Given the description of an element on the screen output the (x, y) to click on. 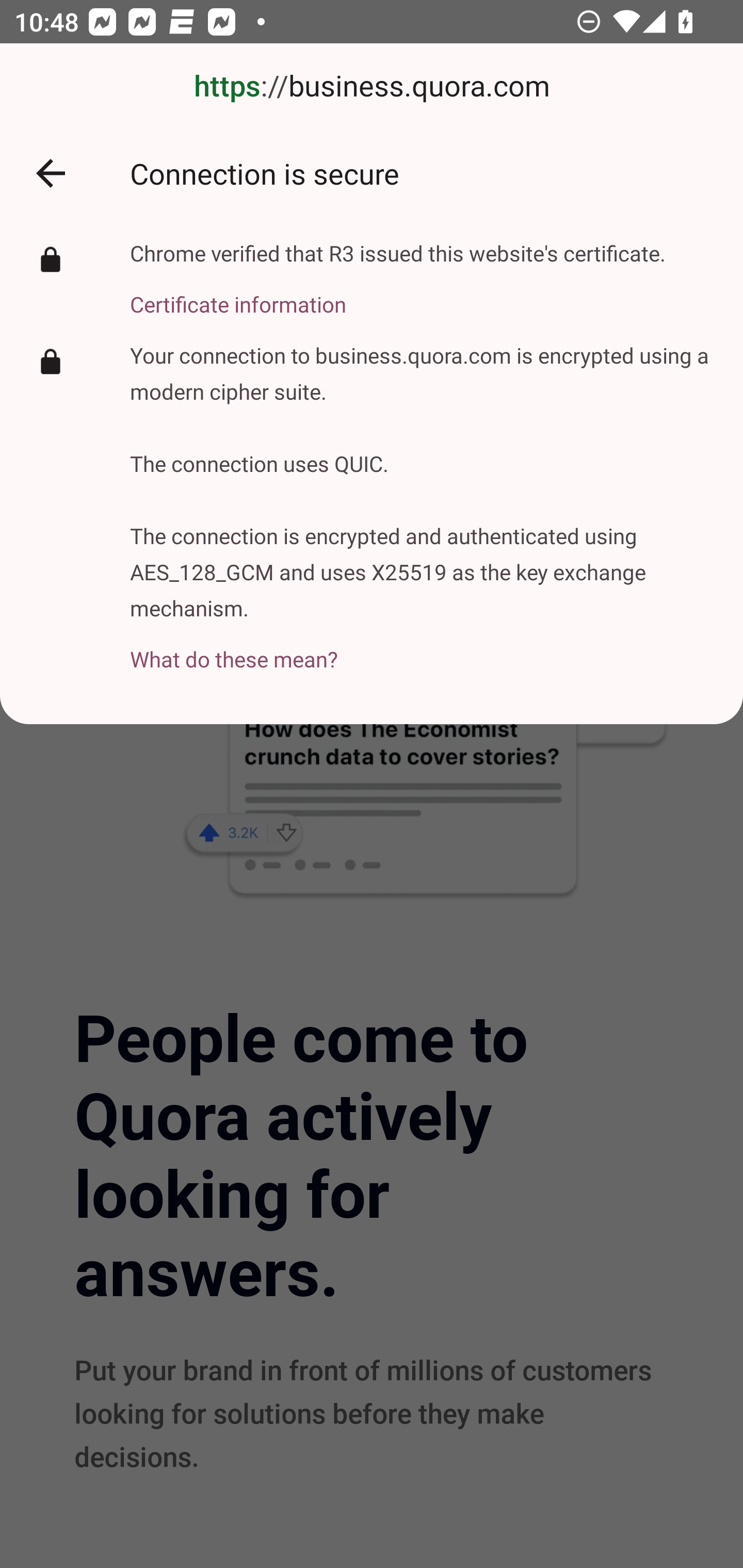
https://business.quora.com (371, 86)
Back (50, 173)
Certificate information (398, 293)
What do these mean? (422, 648)
